Given the description of an element on the screen output the (x, y) to click on. 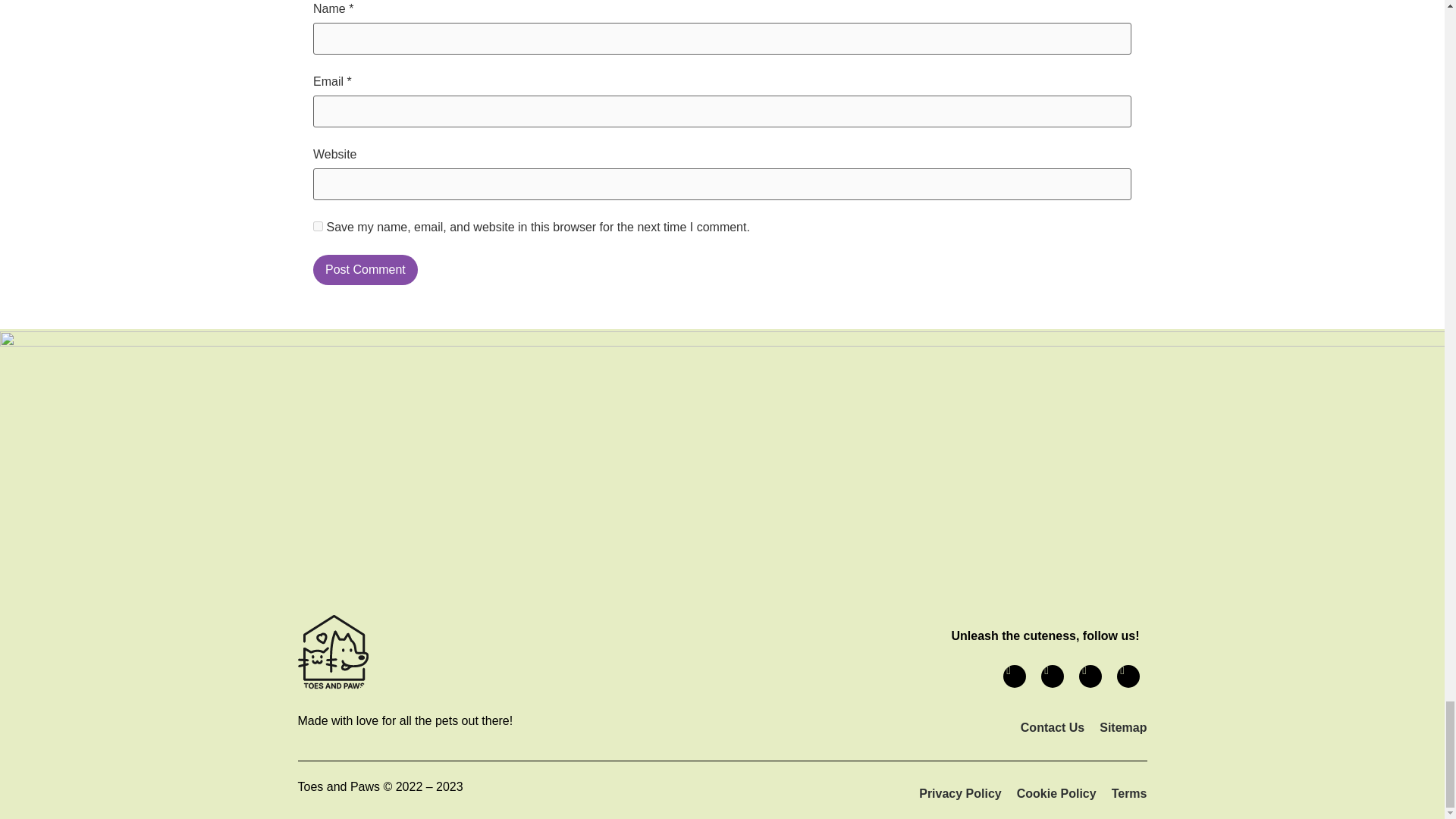
yes (318, 225)
Post Comment (365, 269)
